Given the description of an element on the screen output the (x, y) to click on. 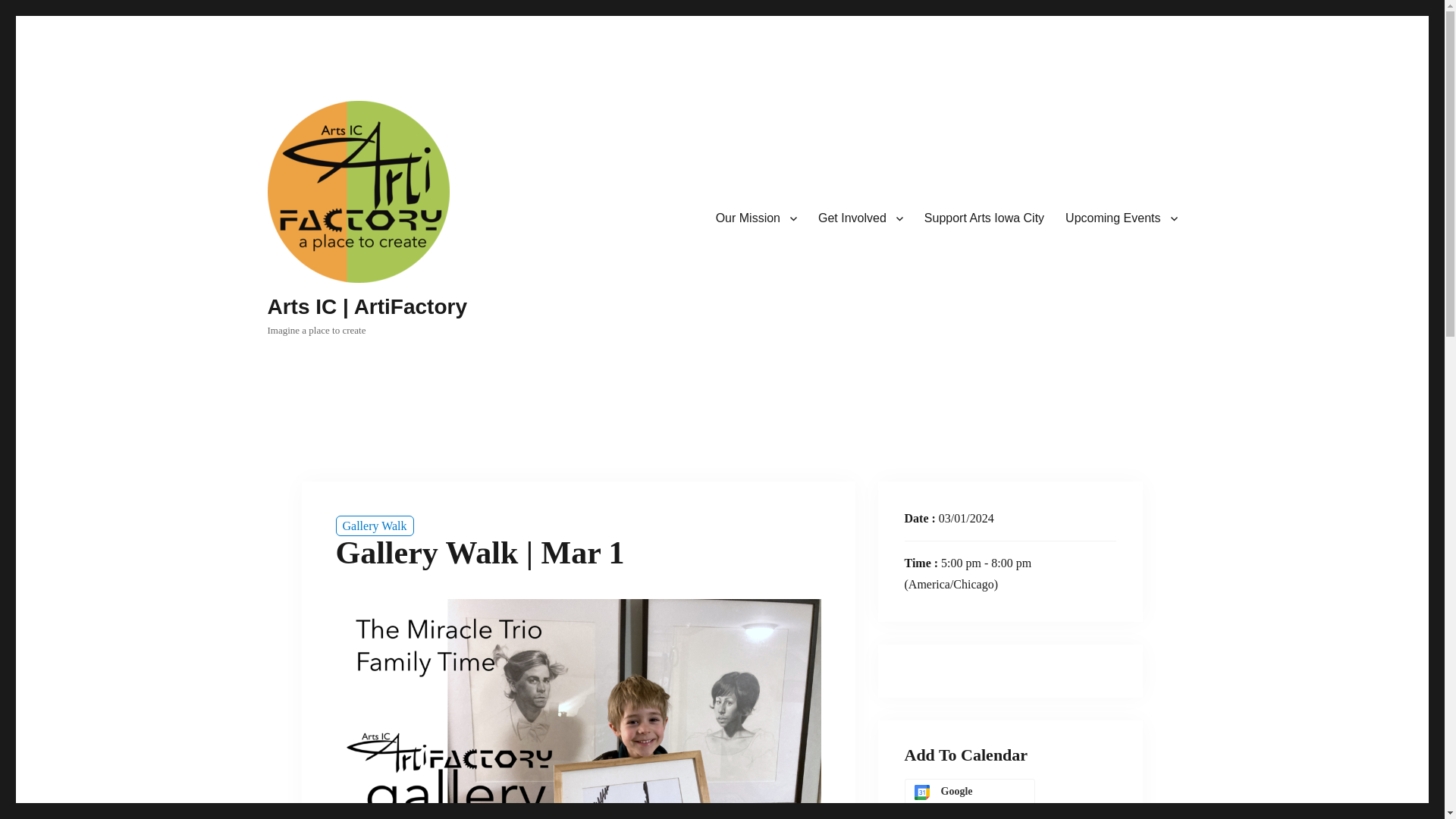
Get Involved (861, 218)
Support Arts Iowa City (984, 218)
Gallery Walk (373, 525)
Our Mission (756, 218)
Upcoming Events (1121, 218)
Google (968, 792)
